Given the description of an element on the screen output the (x, y) to click on. 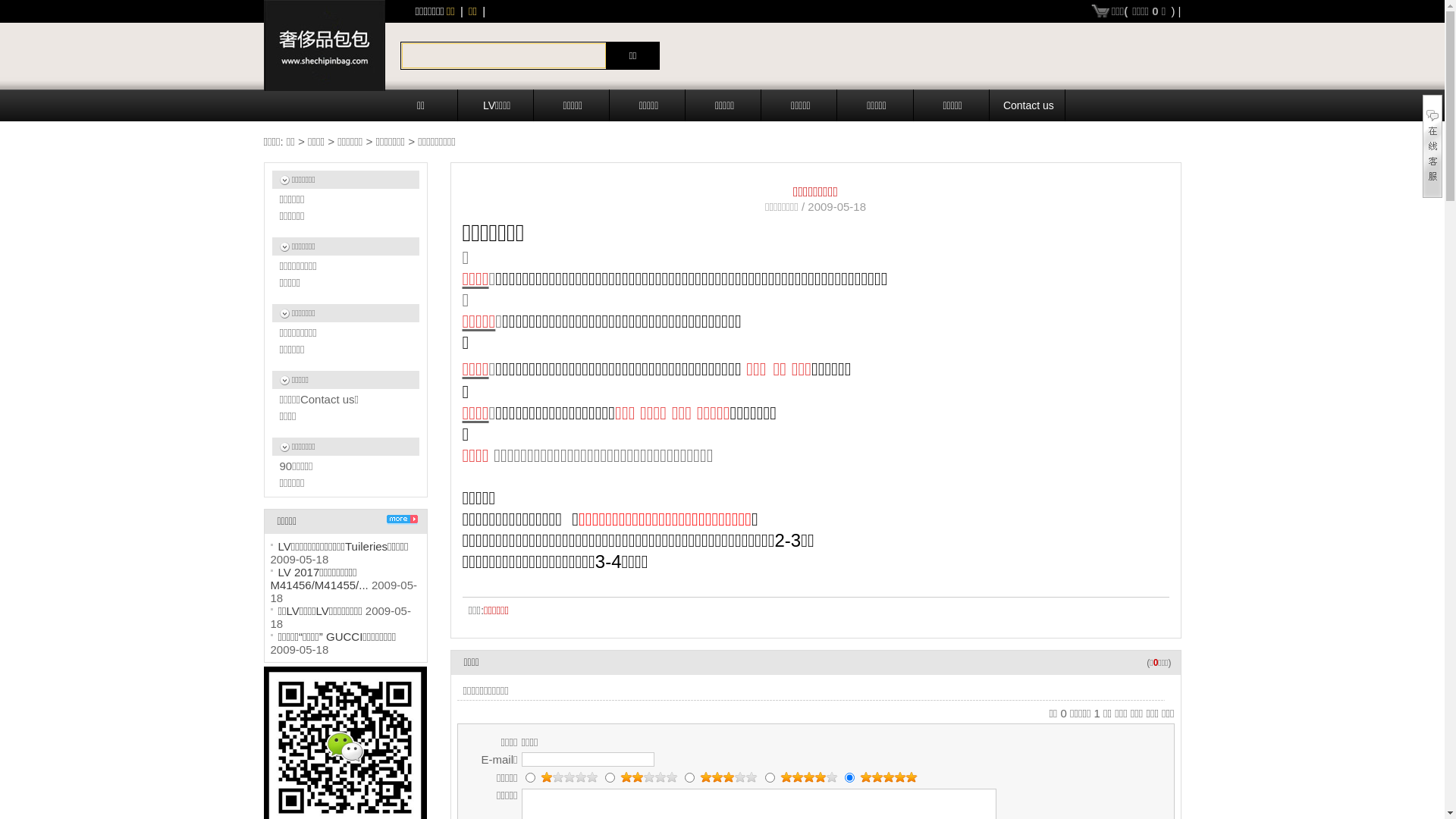
Contact us Element type: text (1028, 105)
